Given the description of an element on the screen output the (x, y) to click on. 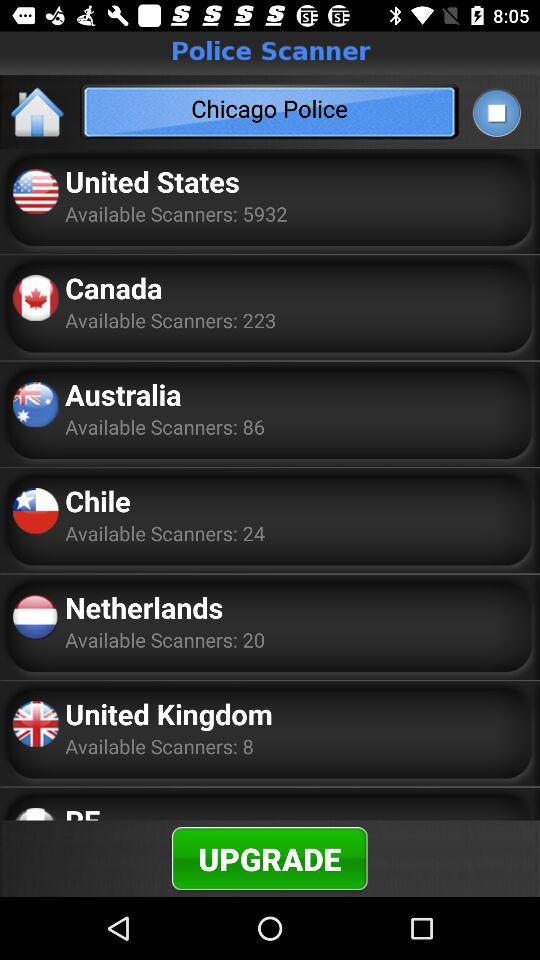
turn off item below available scanners: 5932 item (113, 287)
